Given the description of an element on the screen output the (x, y) to click on. 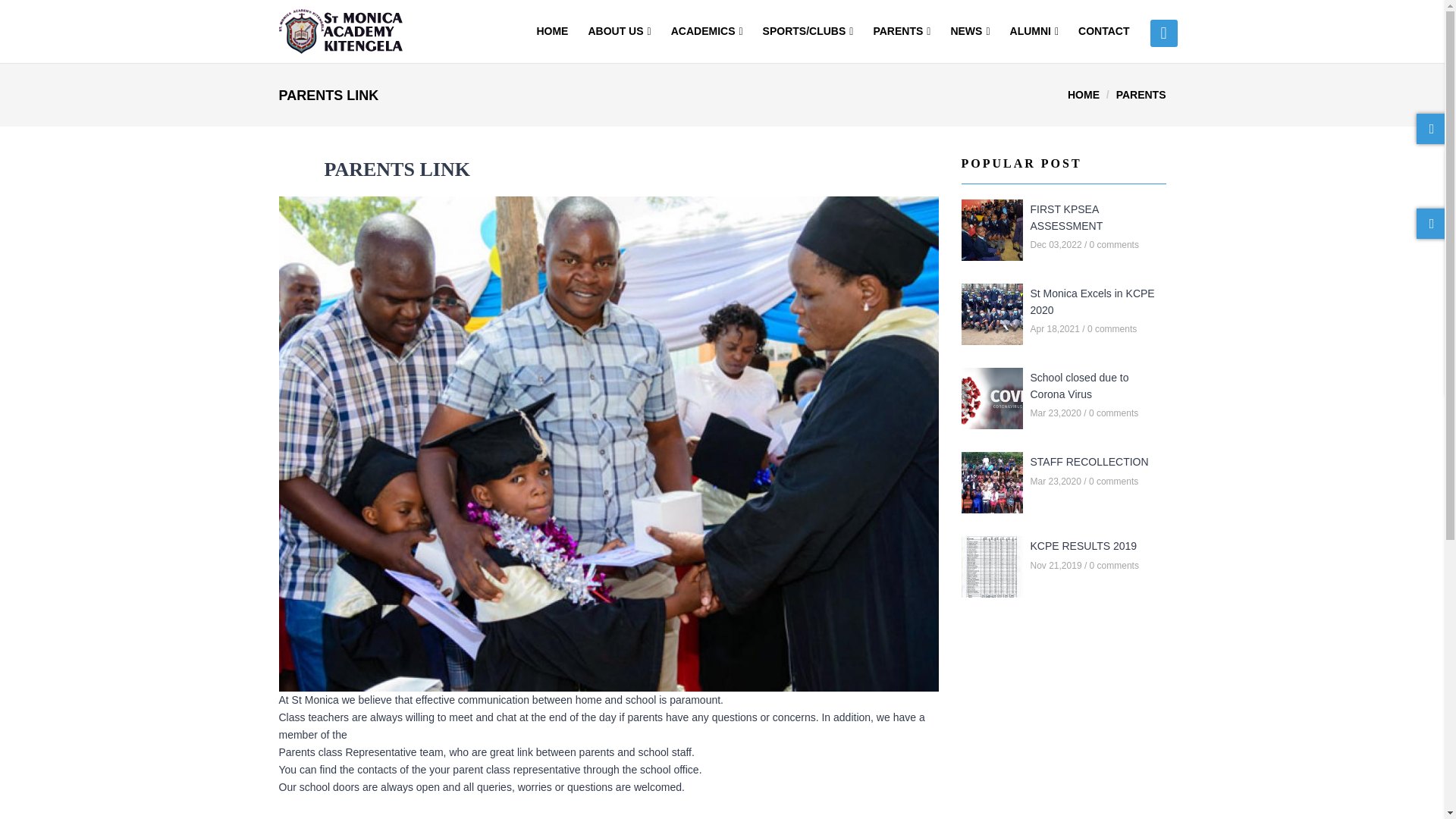
PARENTS (901, 31)
ACADEMICS (706, 31)
ABOUT US (619, 31)
Home (341, 27)
NEWS (969, 31)
